Given the description of an element on the screen output the (x, y) to click on. 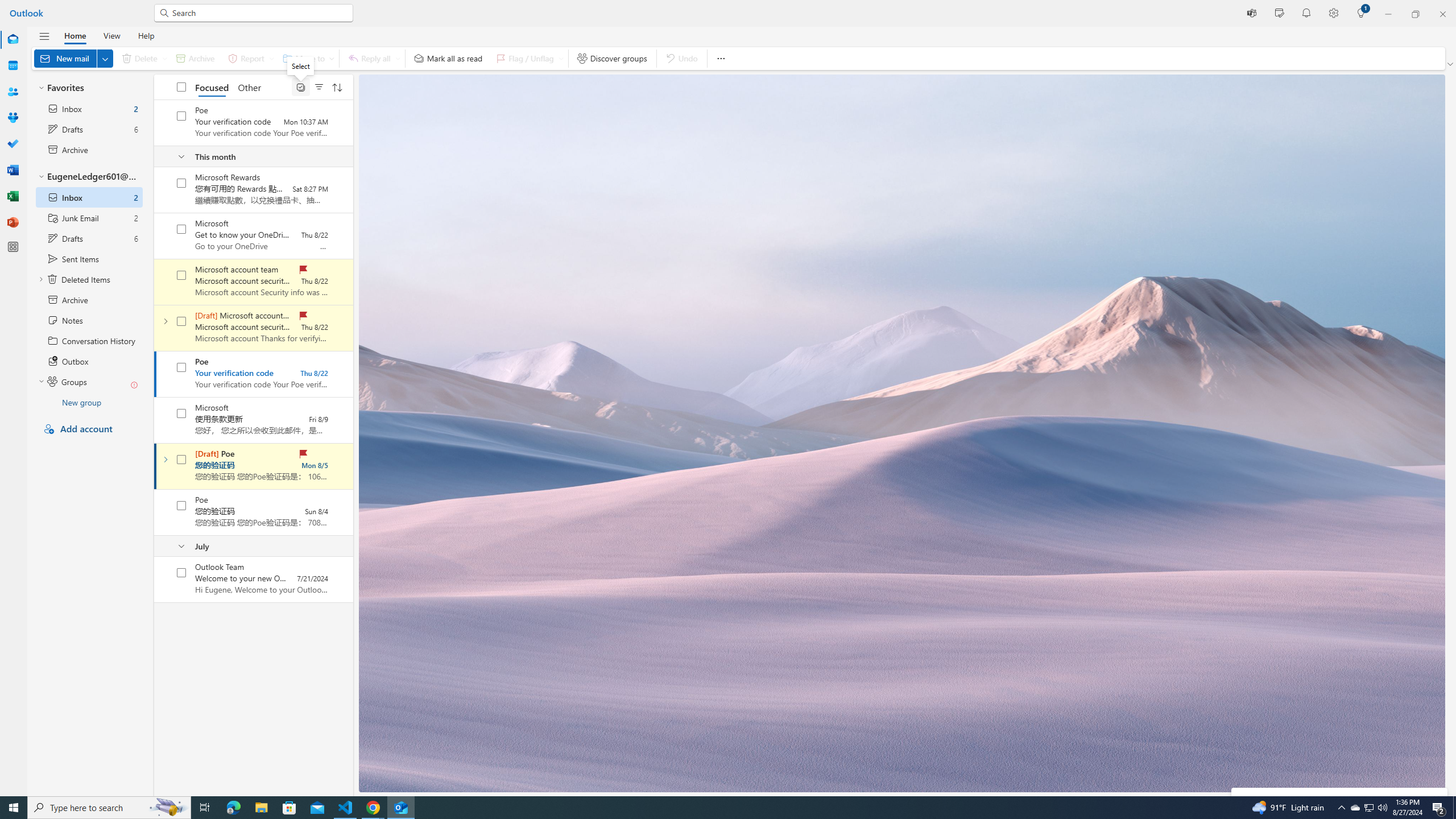
Word (12, 170)
Calendar (12, 65)
Flag / Unflag (527, 58)
People (12, 91)
AutomationID: checkbox-192 (180, 413)
Mark as read (154, 465)
To Do (12, 143)
Delete (141, 58)
Select (300, 86)
Calendar (12, 65)
Discover groups (611, 58)
Sorted: By Date (336, 86)
AutomationID: checkbox-134 (180, 275)
